Given the description of an element on the screen output the (x, y) to click on. 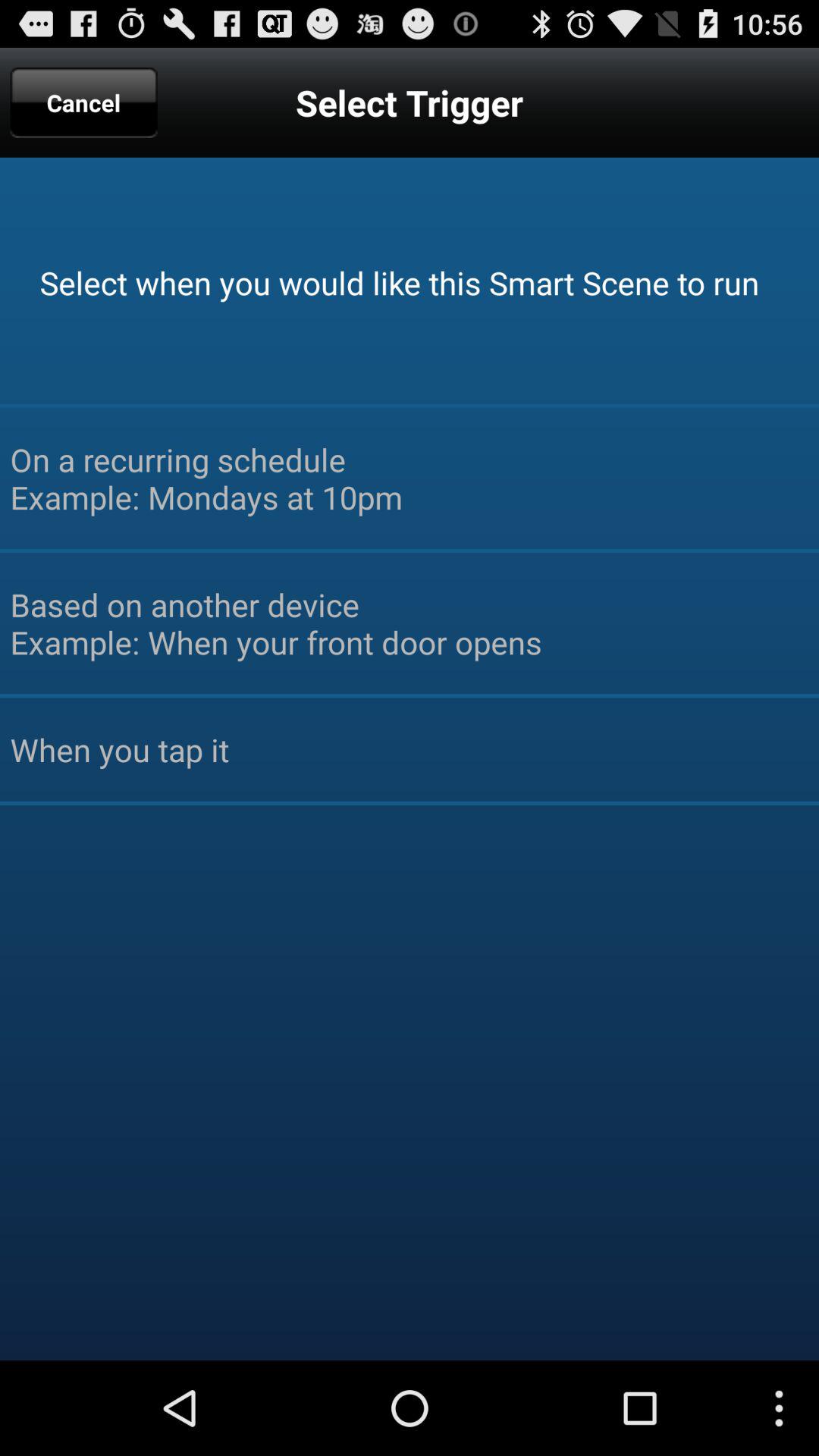
flip until on a recurring item (409, 477)
